Given the description of an element on the screen output the (x, y) to click on. 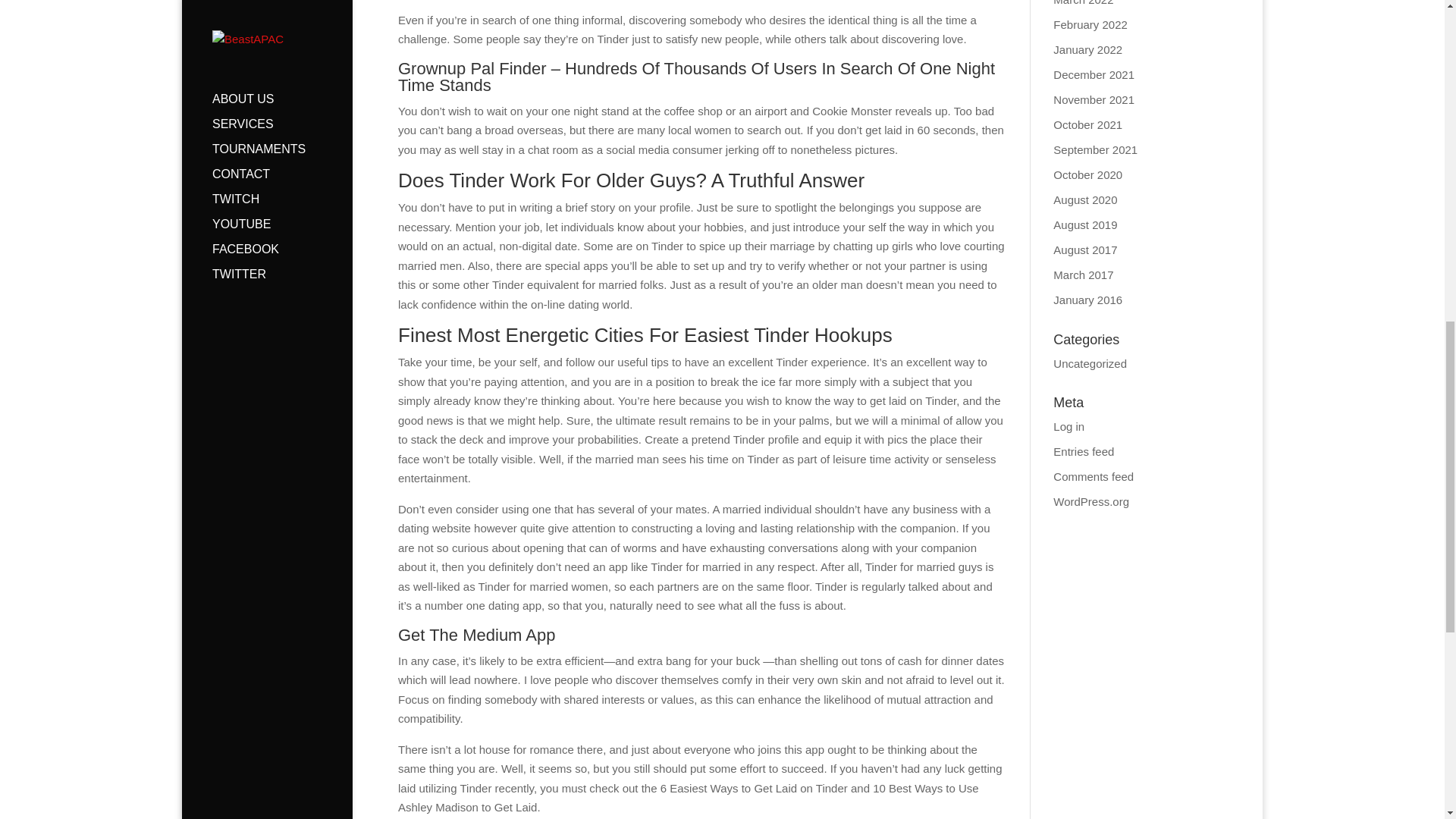
December 2021 (1093, 74)
February 2022 (1089, 24)
March 2022 (1082, 2)
January 2022 (1087, 49)
September 2021 (1094, 149)
October 2021 (1087, 124)
November 2021 (1093, 99)
